Given the description of an element on the screen output the (x, y) to click on. 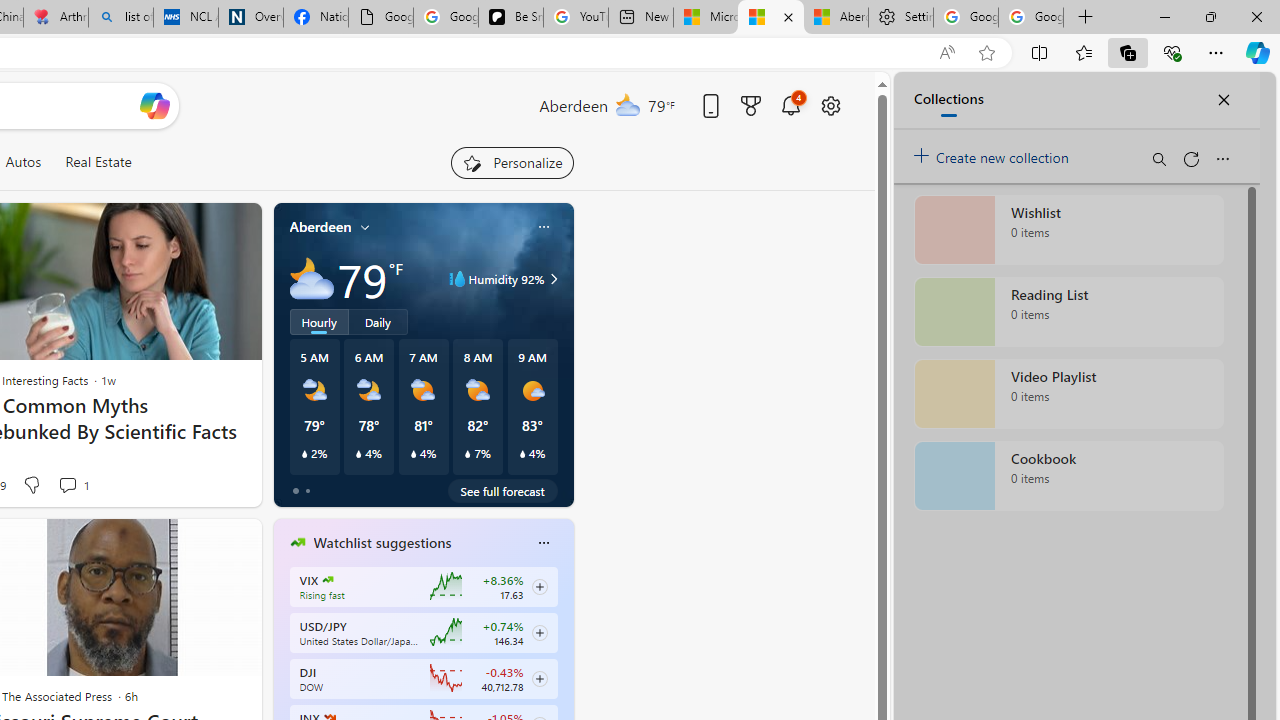
Aberdeen (320, 227)
previous (283, 670)
Humidity 92% (551, 278)
